Given the description of an element on the screen output the (x, y) to click on. 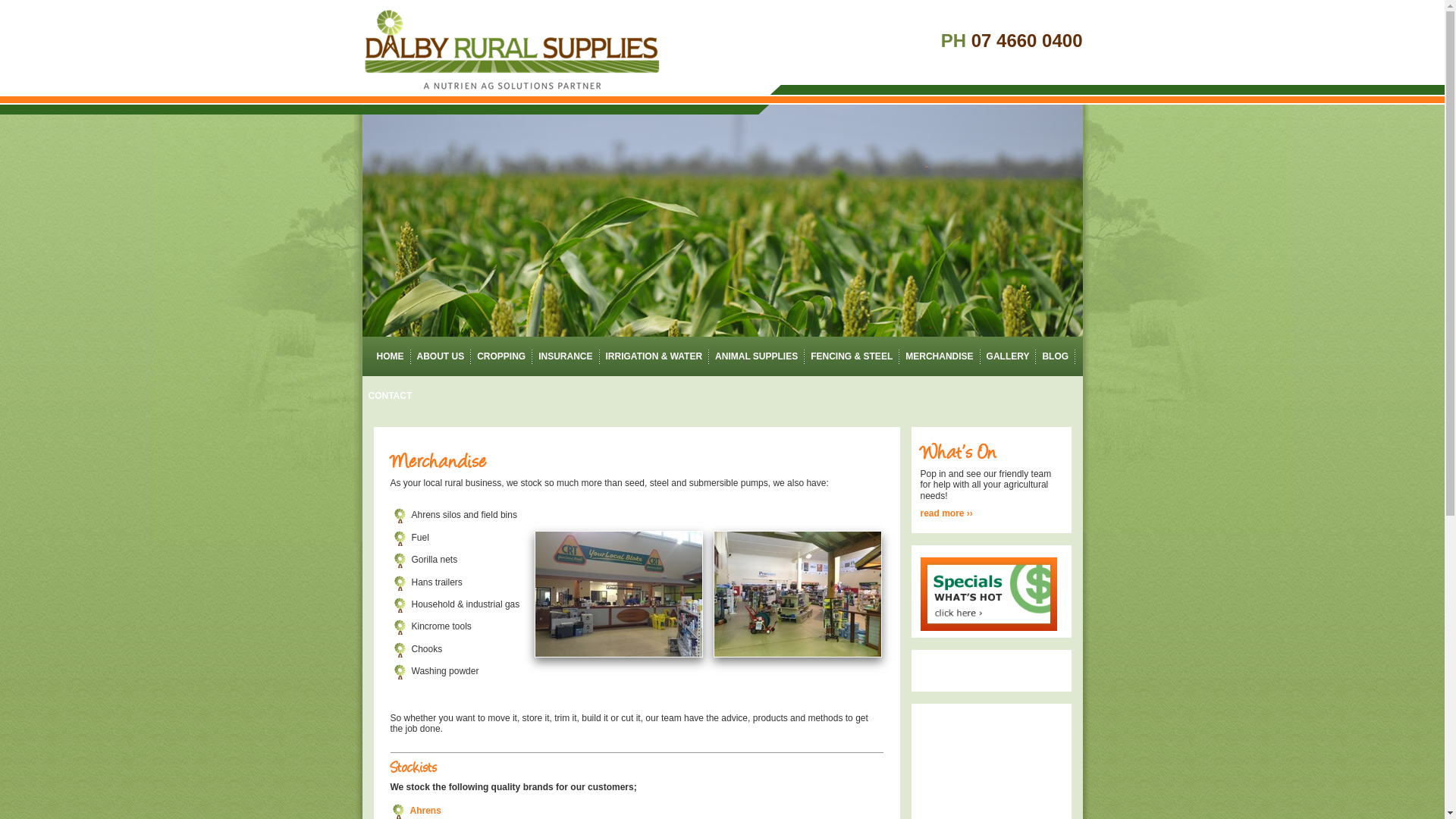
IRRIGATION & WATER Element type: text (654, 356)
ABOUT US Element type: text (440, 356)
GALLERY Element type: text (1007, 356)
HOME Element type: text (386, 356)
CONTACT Element type: text (390, 395)
CROPPING Element type: text (500, 356)
BLOG Element type: text (1054, 356)
FENCING & STEEL Element type: text (851, 356)
MERCHANDISE Element type: text (939, 356)
Ahrens Element type: text (424, 810)
ANIMAL SUPPLIES Element type: text (756, 356)
INSURANCE Element type: text (565, 356)
